Given the description of an element on the screen output the (x, y) to click on. 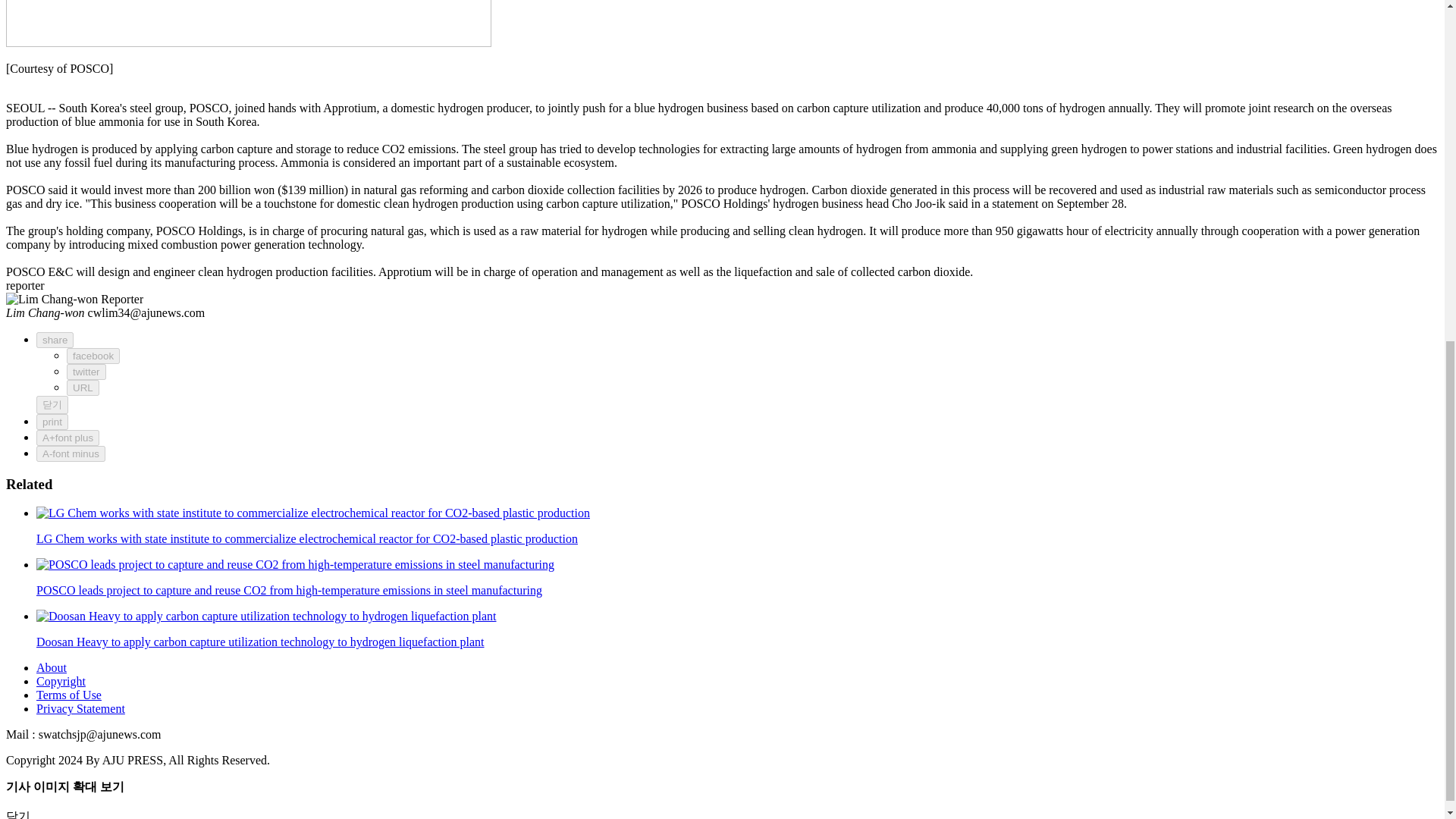
facebook (92, 355)
URL (82, 387)
A-font minus (70, 453)
Copyright (60, 680)
About (51, 667)
share (55, 340)
twitter (86, 371)
Terms of Use (68, 694)
print (52, 421)
Privacy Statement (80, 707)
